Given the description of an element on the screen output the (x, y) to click on. 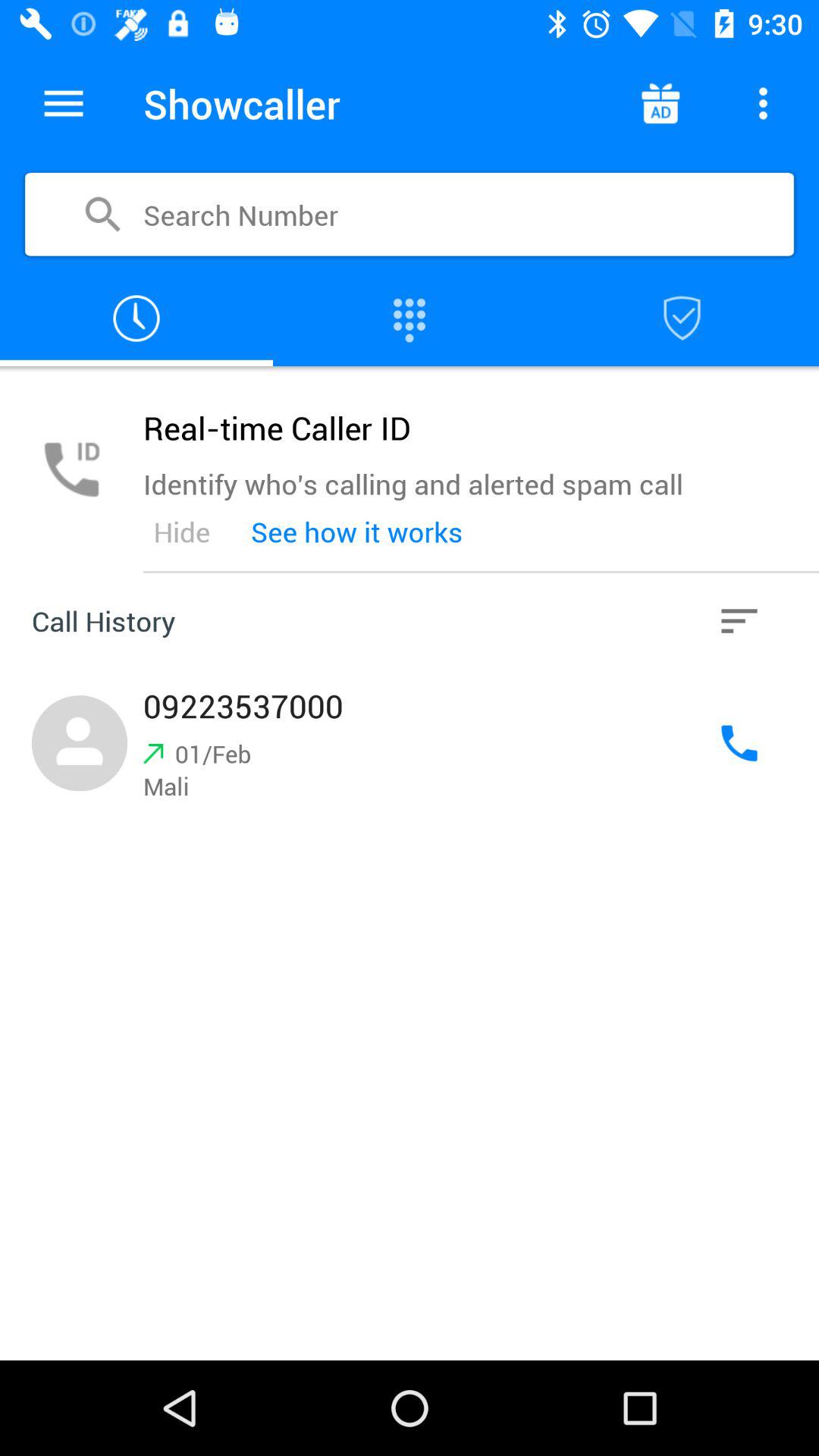
flip to hide icon (181, 531)
